Given the description of an element on the screen output the (x, y) to click on. 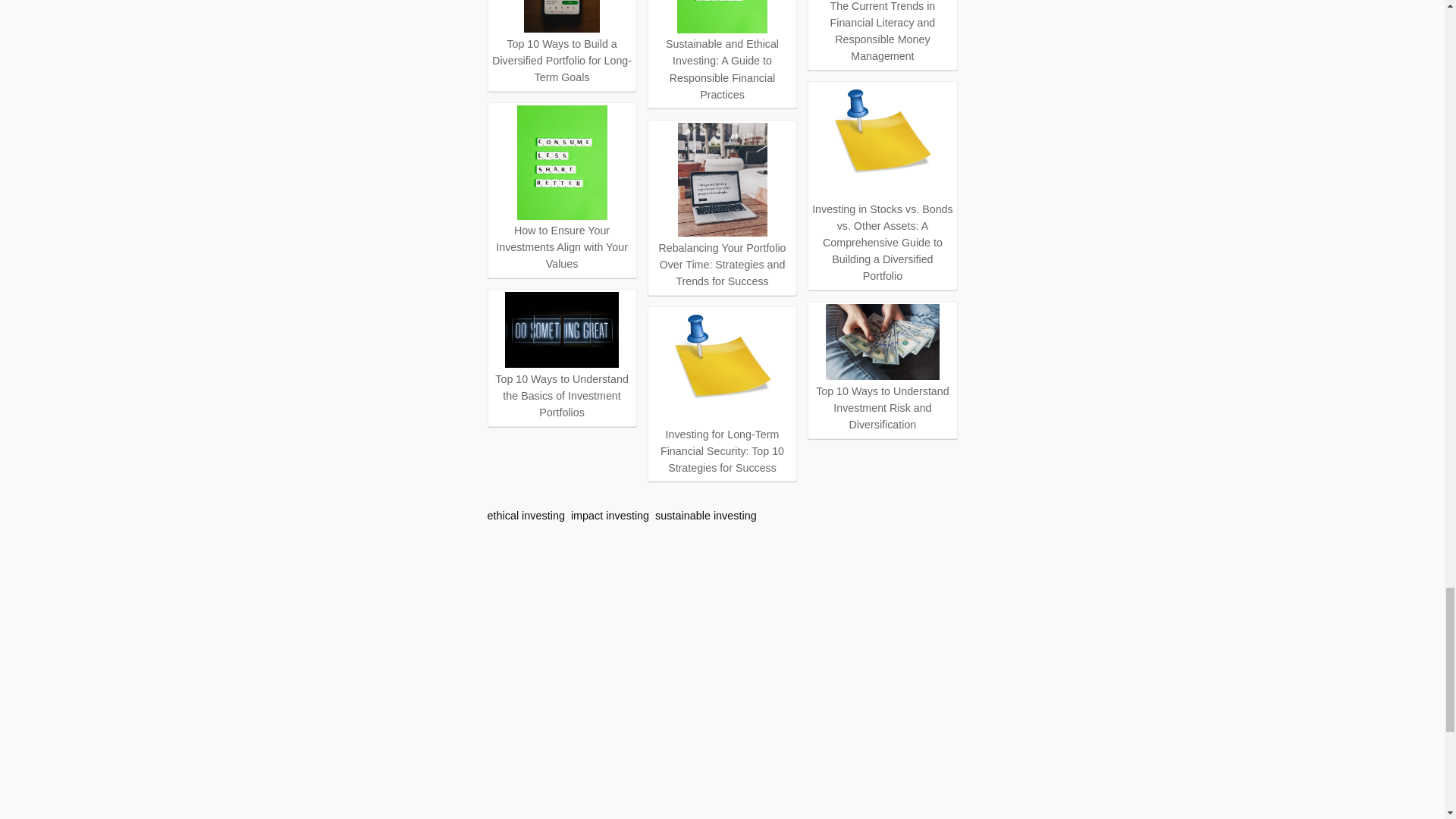
impact investing (609, 515)
sustainable investing (706, 515)
ethical investing (525, 515)
